Given the description of an element on the screen output the (x, y) to click on. 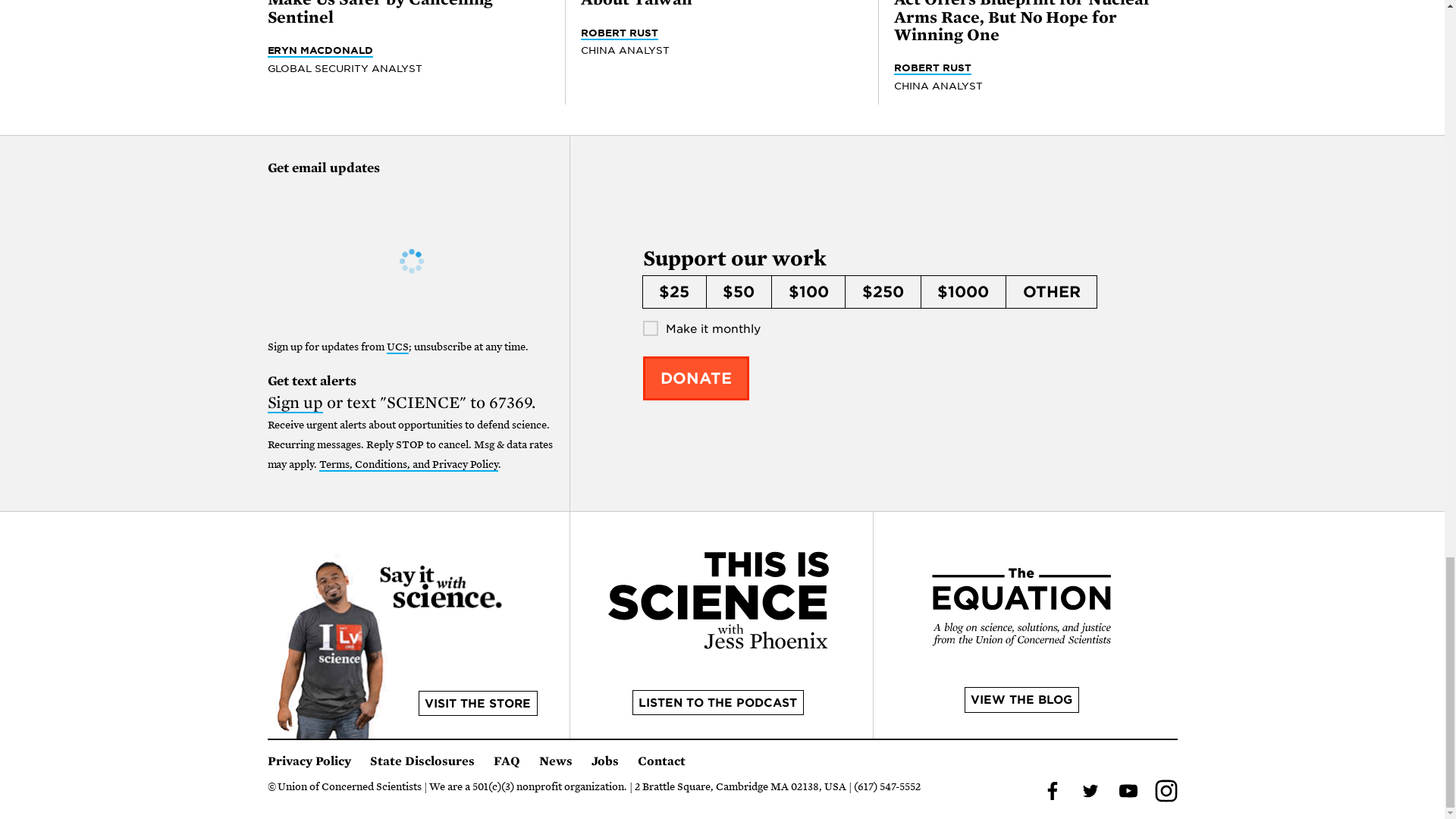
Donate Online (696, 377)
ROBERT RUST (619, 33)
What Xi Jinping Tells His Military About Taiwan (715, 4)
UCS (398, 347)
Terms, Conditions, and Privacy Policy (407, 464)
Sign up (294, 403)
ROBERT RUST (932, 68)
ERYN MACDONALD (319, 50)
